Given the description of an element on the screen output the (x, y) to click on. 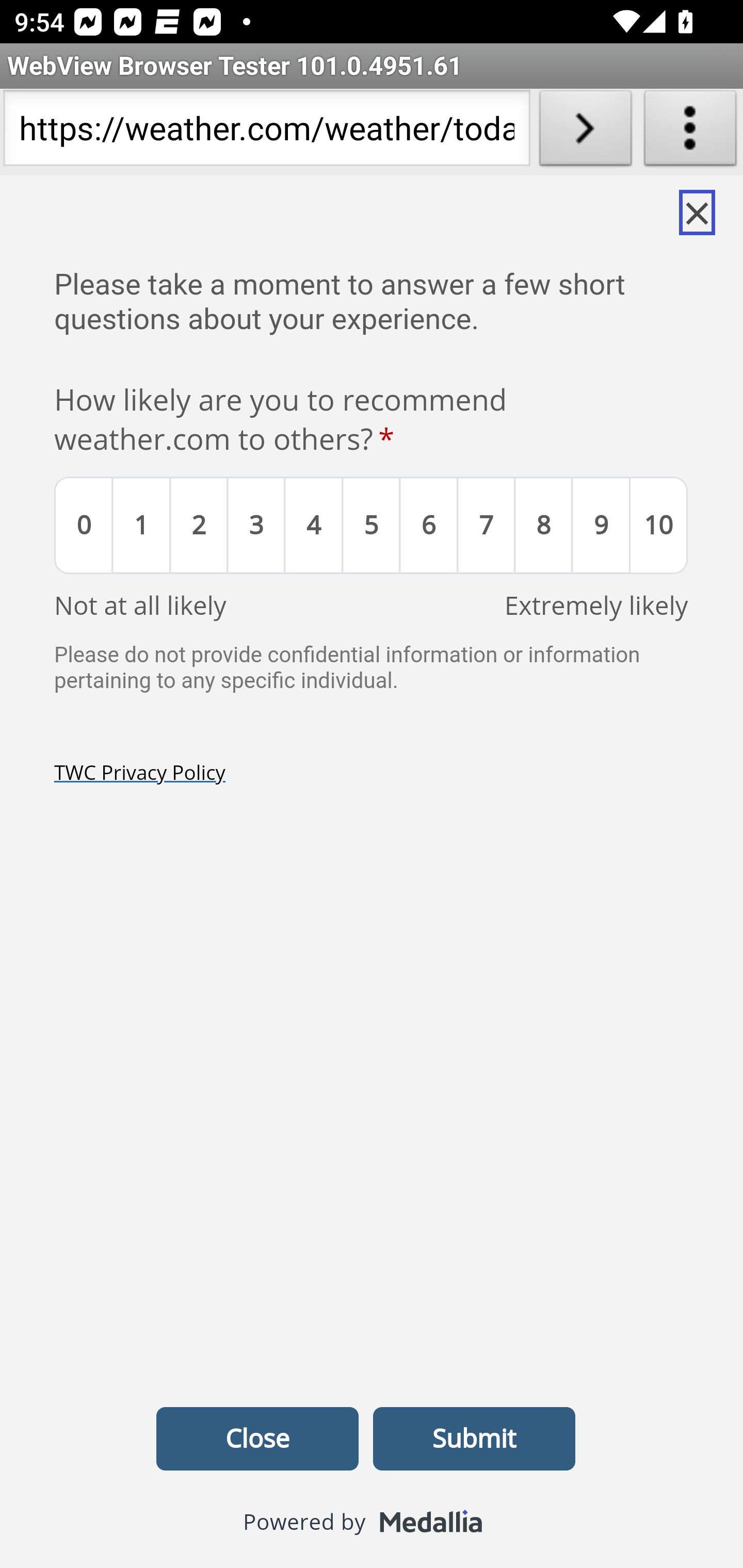
Load URL (585, 132)
About WebView (690, 132)
